Given the description of an element on the screen output the (x, y) to click on. 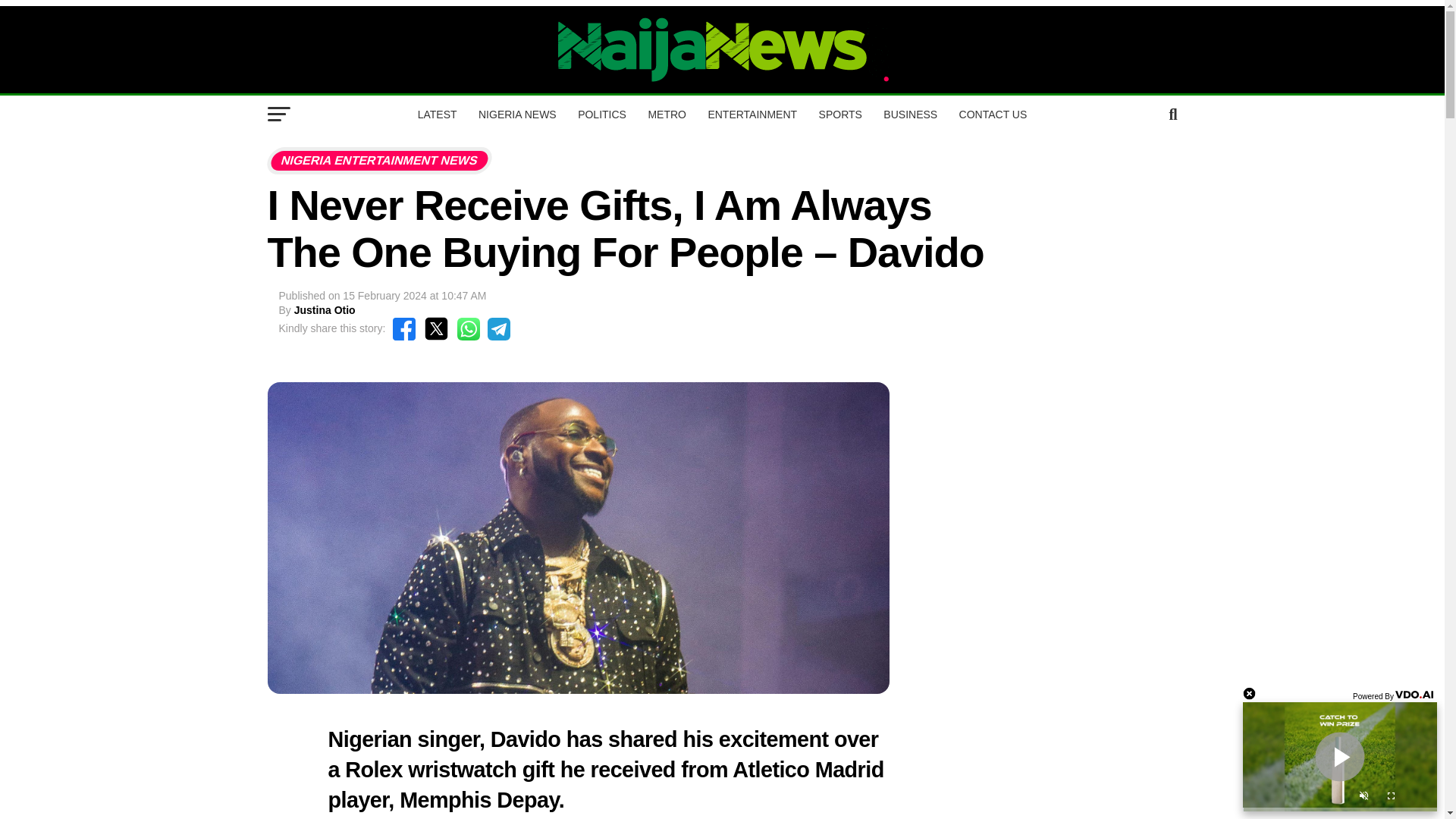
METRO (667, 114)
ENTERTAINMENT (752, 114)
Play (1339, 757)
Play (1339, 757)
Fullscreen (1390, 797)
Unmute (1363, 797)
NIGERIA NEWS (517, 114)
BUSINESS (910, 114)
Davido (525, 739)
LATEST (437, 114)
Posts by Justina Otio (324, 309)
SPORTS (839, 114)
Justina Otio (324, 309)
CONTACT US (993, 114)
Fullscreen (1390, 797)
